Given the description of an element on the screen output the (x, y) to click on. 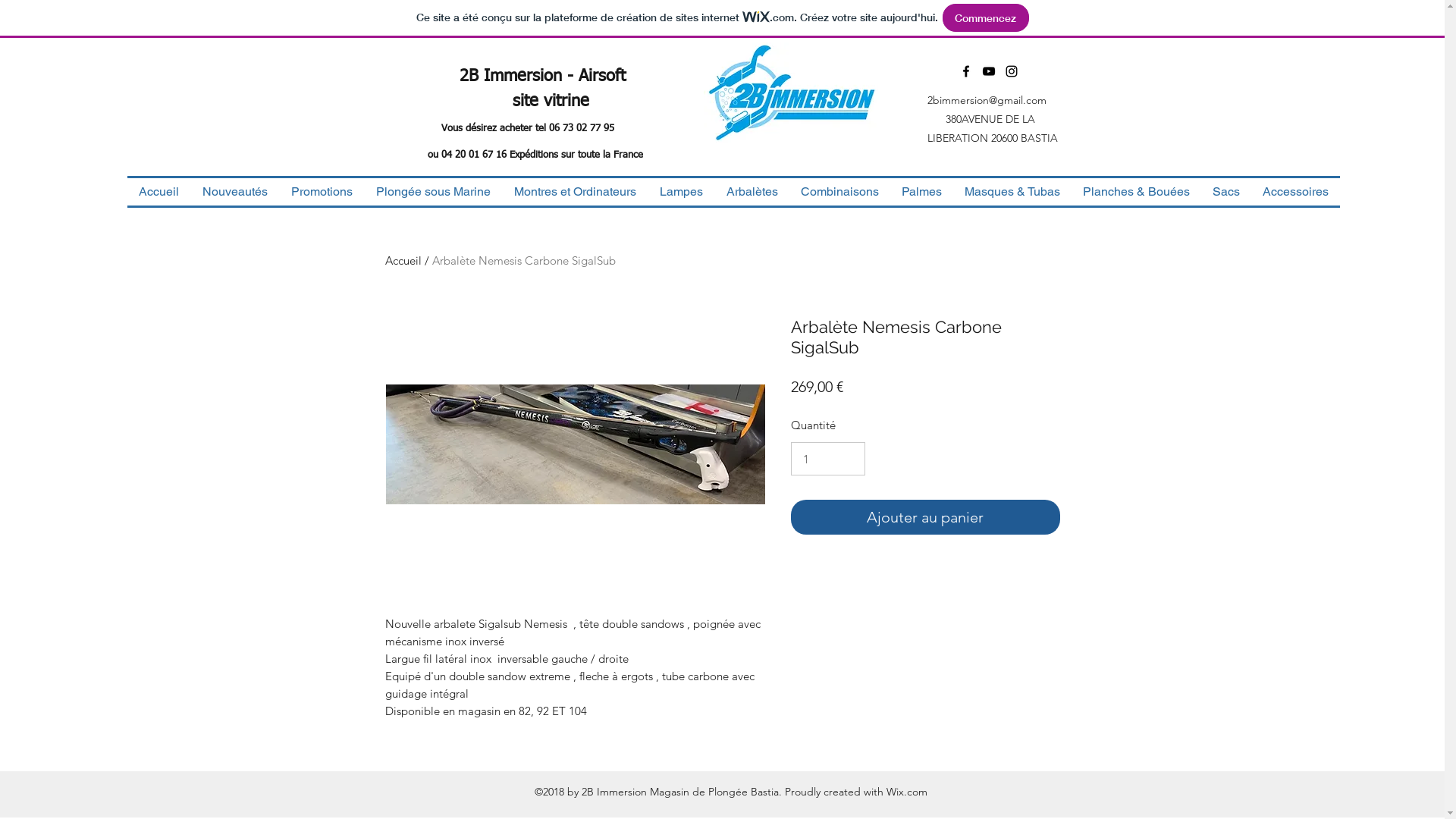
Accueil Element type: text (403, 260)
2bimmersion@gmail.com Element type: text (985, 99)
ns sur toute la France Element type: text (594, 155)
      2B Immersion - Airsoft
                site vitrine Element type: text (526, 88)
Ajouter au panier Element type: text (924, 516)
